Given the description of an element on the screen output the (x, y) to click on. 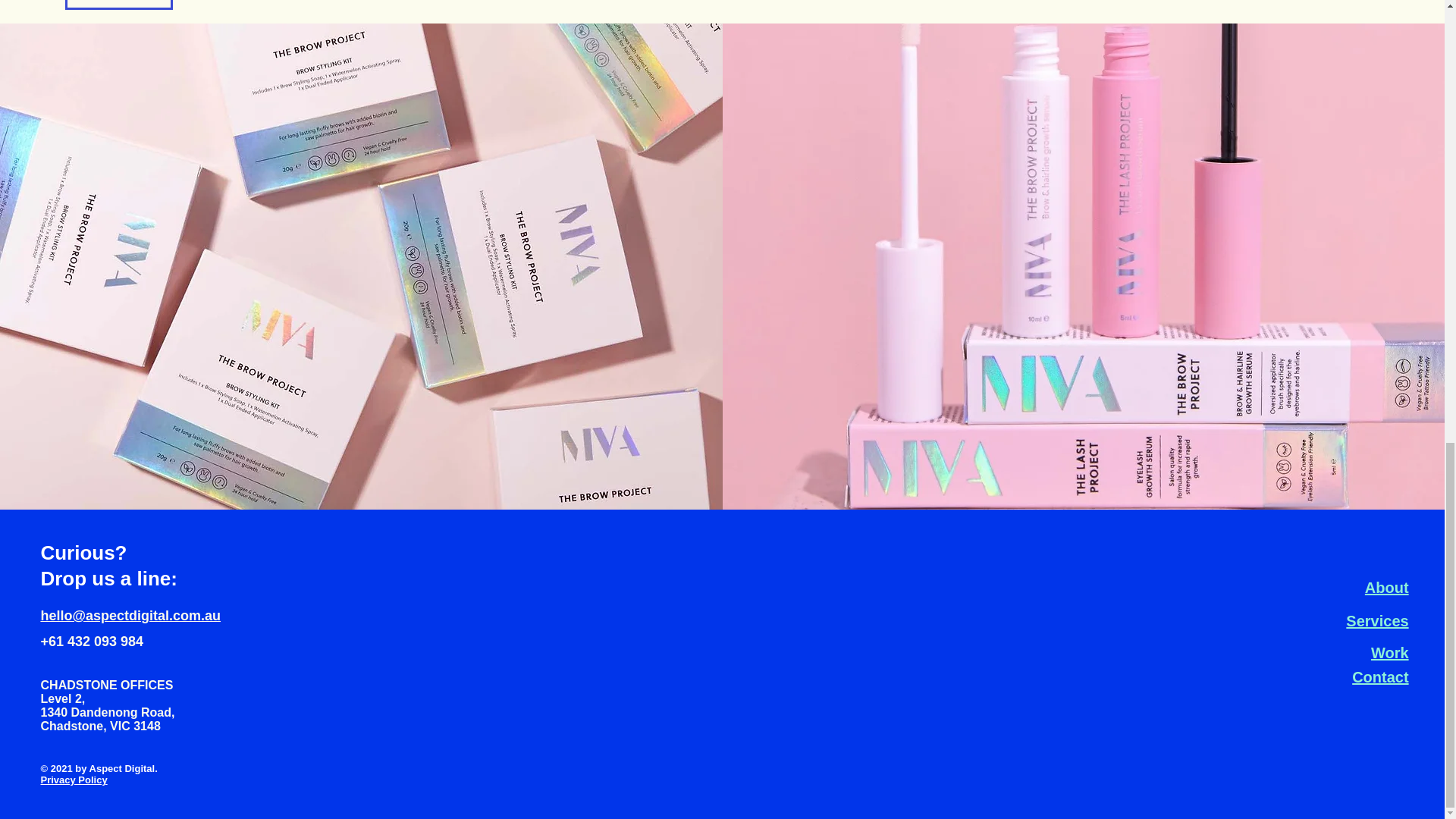
Enquire Now (119, 4)
Services (1376, 620)
About (1387, 587)
Work (1390, 652)
Privacy Policy (73, 779)
Contact (1379, 677)
